Given the description of an element on the screen output the (x, y) to click on. 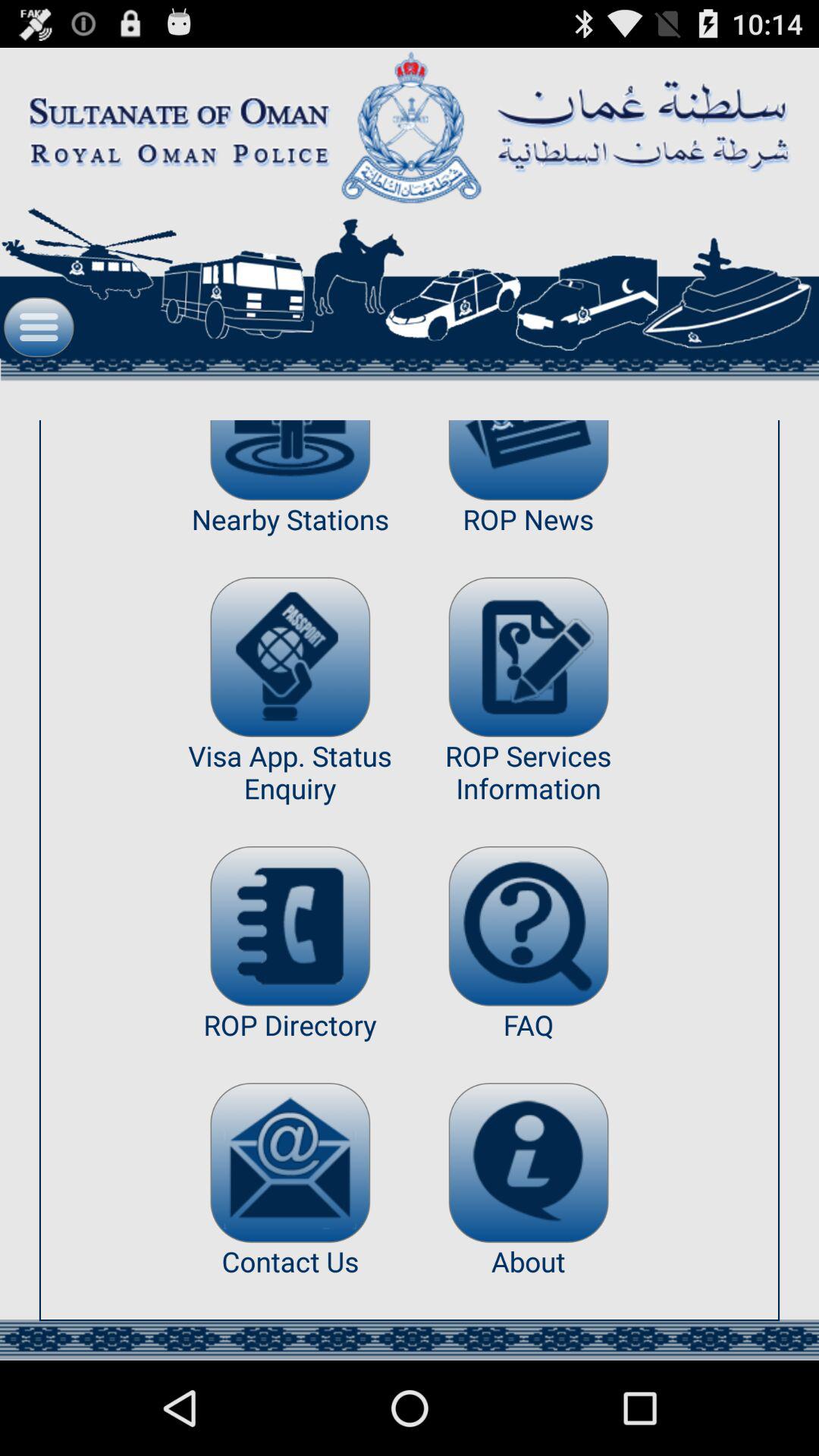
select item below rop directory app (290, 1162)
